Given the description of an element on the screen output the (x, y) to click on. 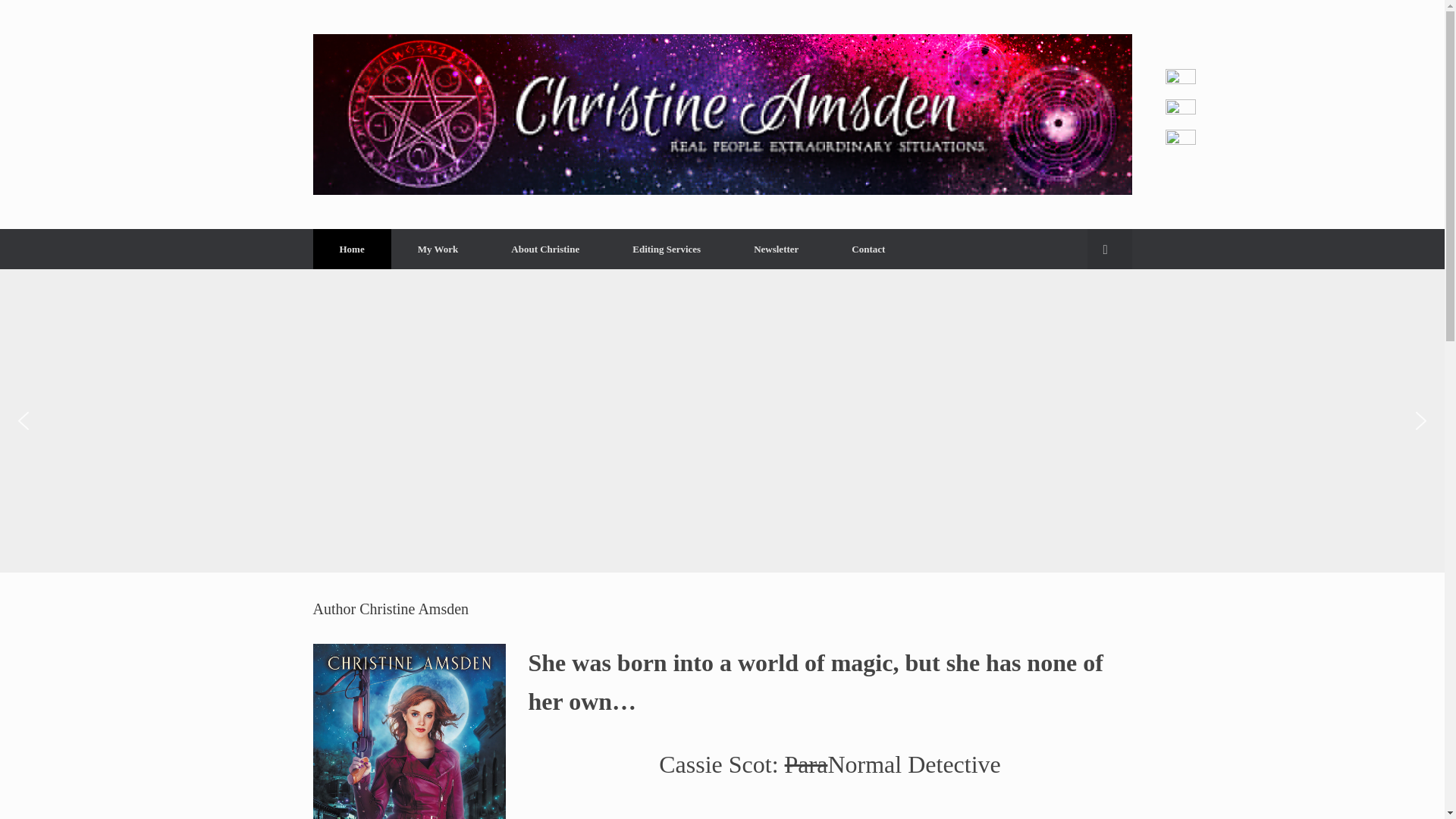
About Christine (544, 249)
Home (351, 249)
Newsletter (775, 249)
Editing Services (665, 249)
Contact (868, 249)
About Christine (544, 249)
My Work (437, 249)
Home (351, 249)
